Given the description of an element on the screen output the (x, y) to click on. 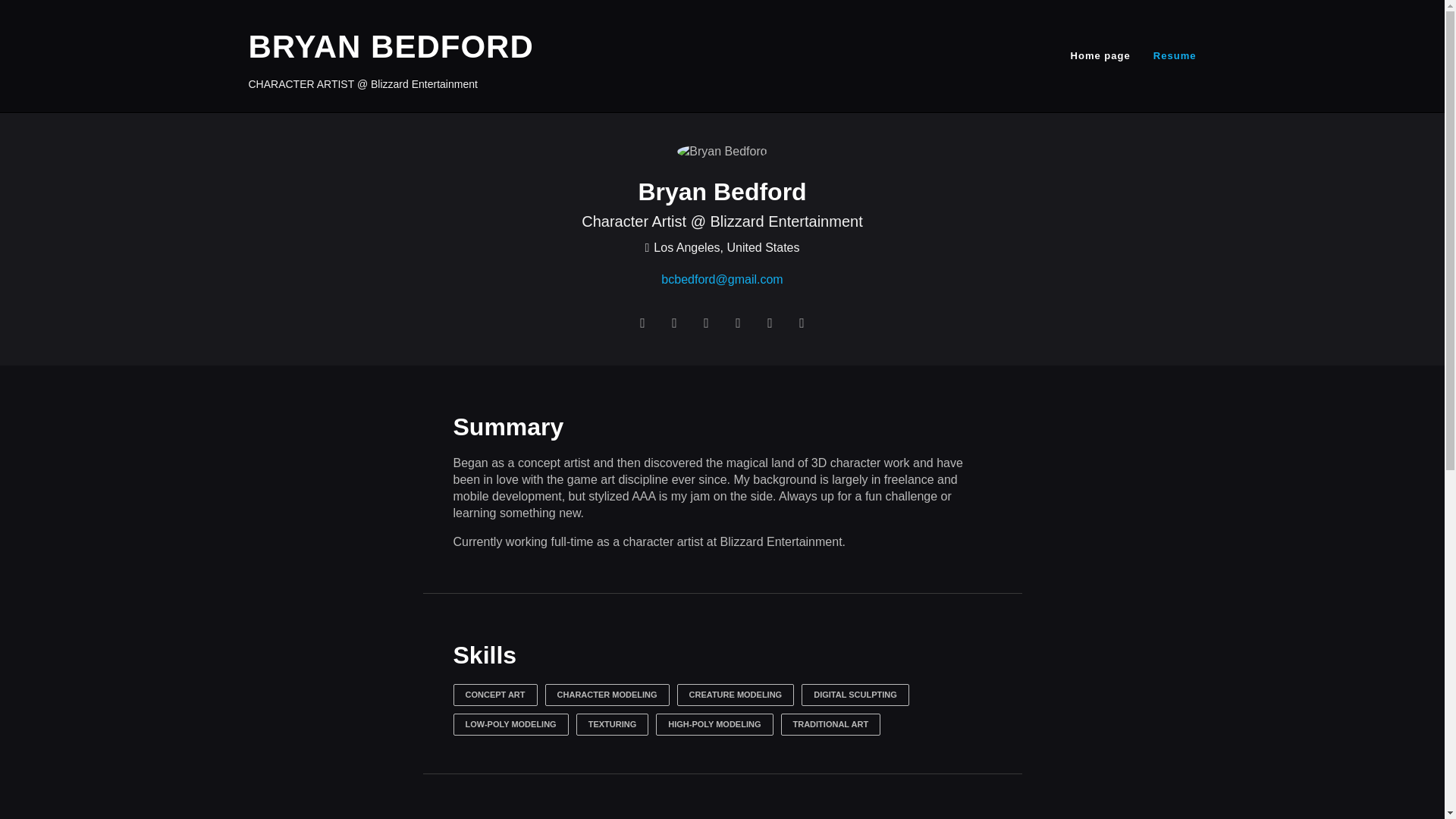
Resume (1174, 55)
BRYAN BEDFORD (391, 46)
Home page (1100, 55)
